Given the description of an element on the screen output the (x, y) to click on. 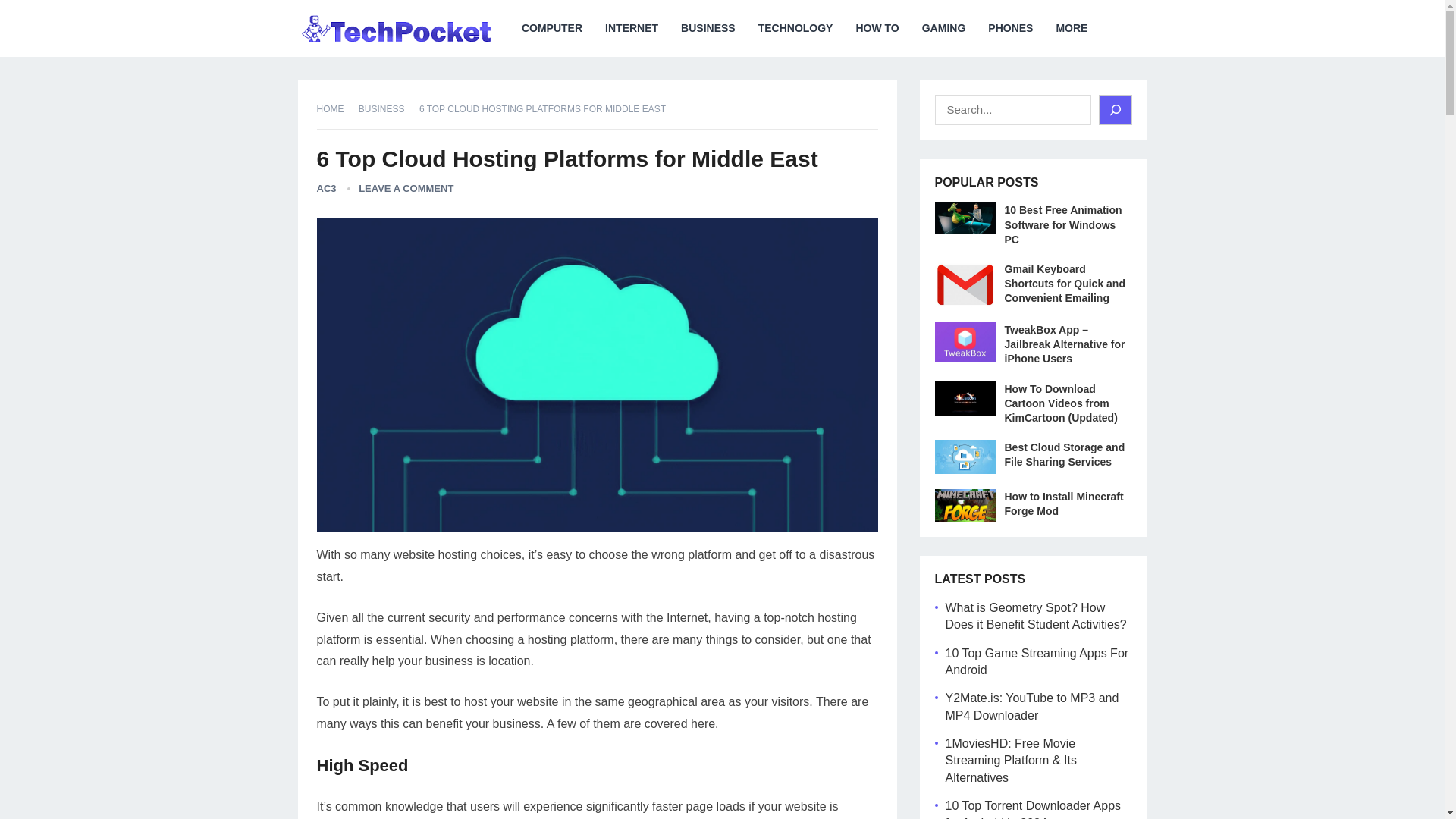
Posts by AC3 (326, 188)
BUSINESS (386, 109)
INTERNET (631, 28)
HOW TO (877, 28)
HOME (336, 109)
AC3 (326, 188)
GAMING (943, 28)
View all posts in Business (386, 109)
PHONES (1009, 28)
BUSINESS (707, 28)
